Given the description of an element on the screen output the (x, y) to click on. 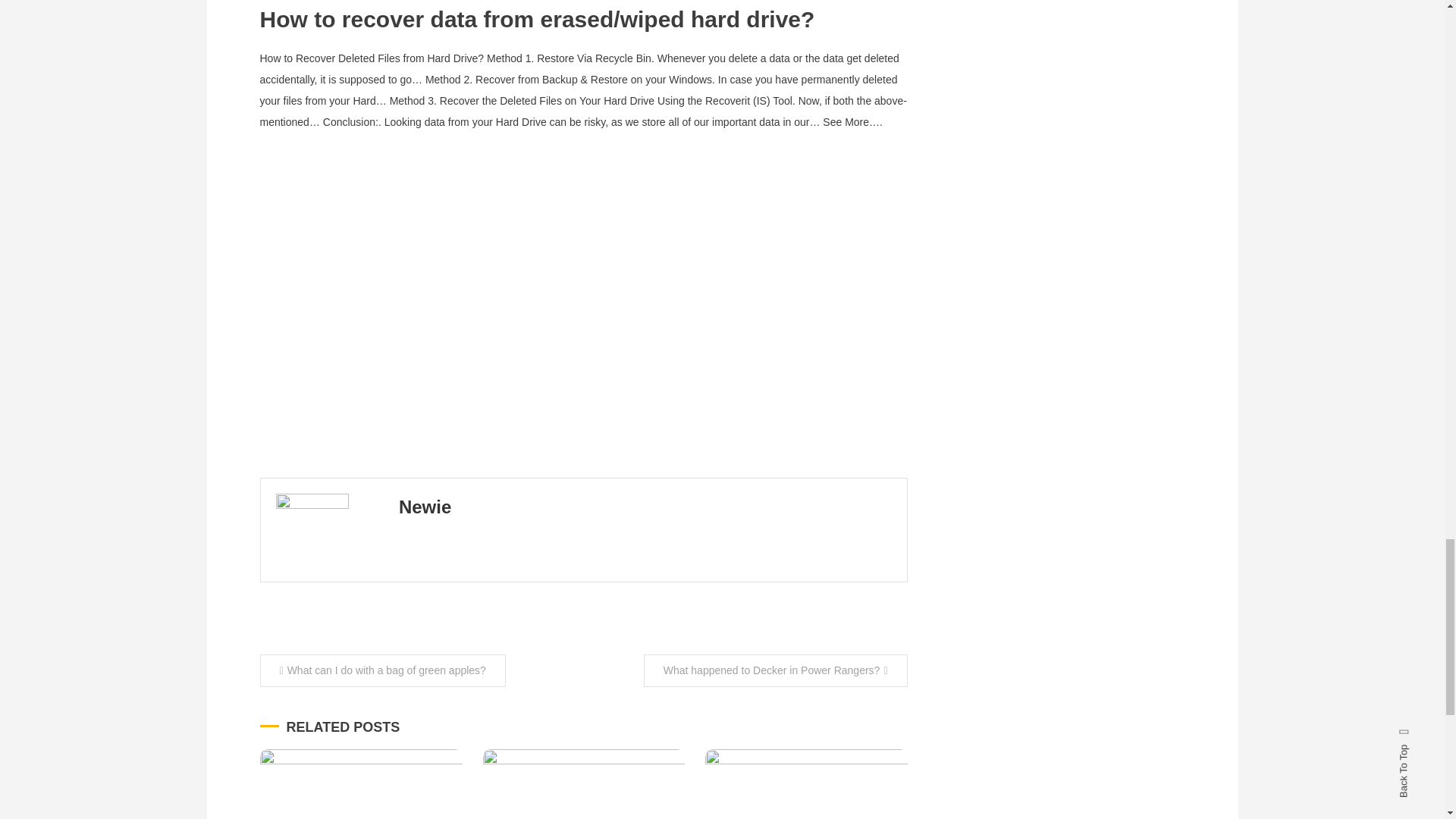
Posts by Newie (424, 506)
What happened to Decker in Power Rangers? (775, 670)
What can I do with a bag of green apples? (382, 670)
Newie (424, 506)
